Given the description of an element on the screen output the (x, y) to click on. 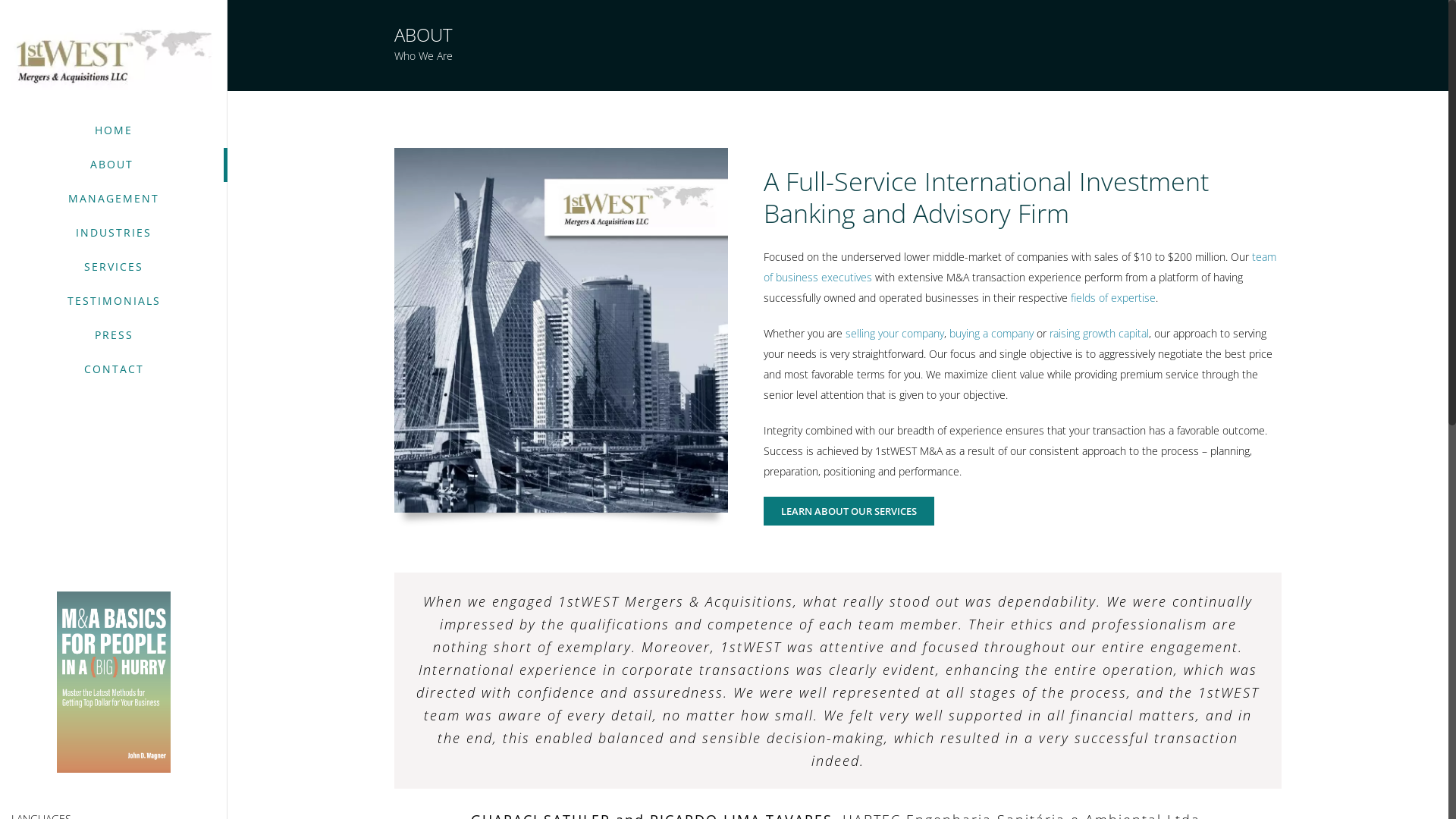
INDUSTRIES Element type: text (113, 233)
ABOUT Element type: text (113, 164)
team of business executives Element type: text (1019, 266)
buying a company Element type: text (991, 333)
MANAGEMENT Element type: text (113, 199)
PRESS Element type: text (113, 335)
YouTube video player 1 Element type: hover (113, 508)
LEARN ABOUT OUR SERVICES Element type: text (848, 510)
iStock_000021821690_Full_low-01 Element type: hover (561, 329)
fields of expertise Element type: text (1112, 297)
selling your company Element type: text (894, 333)
HOME Element type: text (113, 130)
raising growth capital Element type: text (1098, 333)
TESTIMONIALS Element type: text (113, 301)
CONTACT Element type: text (113, 369)
SERVICES Element type: text (113, 267)
